Given the description of an element on the screen output the (x, y) to click on. 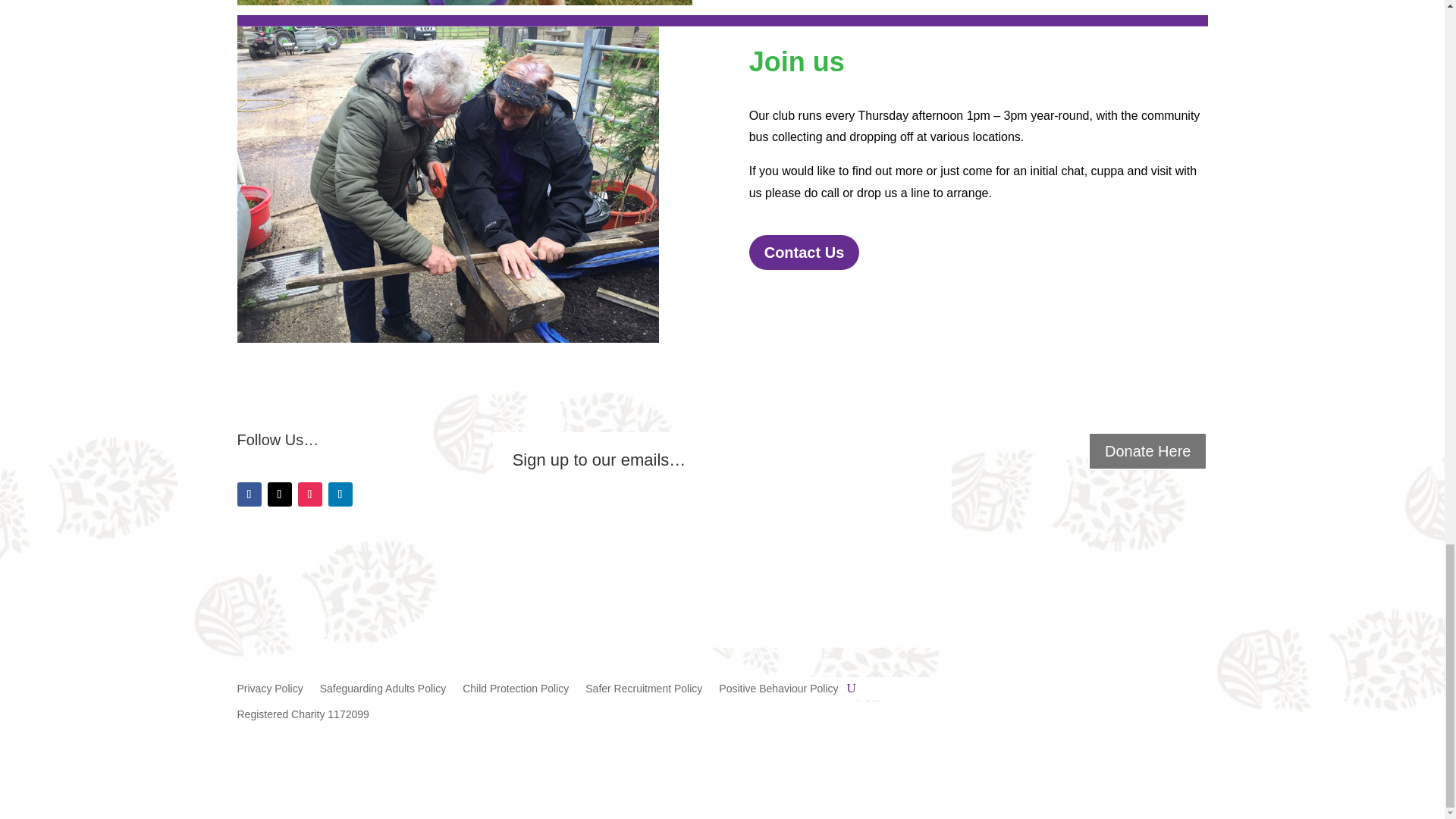
Donate Here (1147, 451)
Safer Recruitment Policy (643, 691)
Safeguarding Adults Policy (383, 691)
Follow on Facebook (247, 494)
Privacy Policy (268, 691)
Contact Us (804, 252)
coutnrymen-image3c (446, 184)
Follow on Instagram (309, 494)
Follow on X (278, 494)
